Given the description of an element on the screen output the (x, y) to click on. 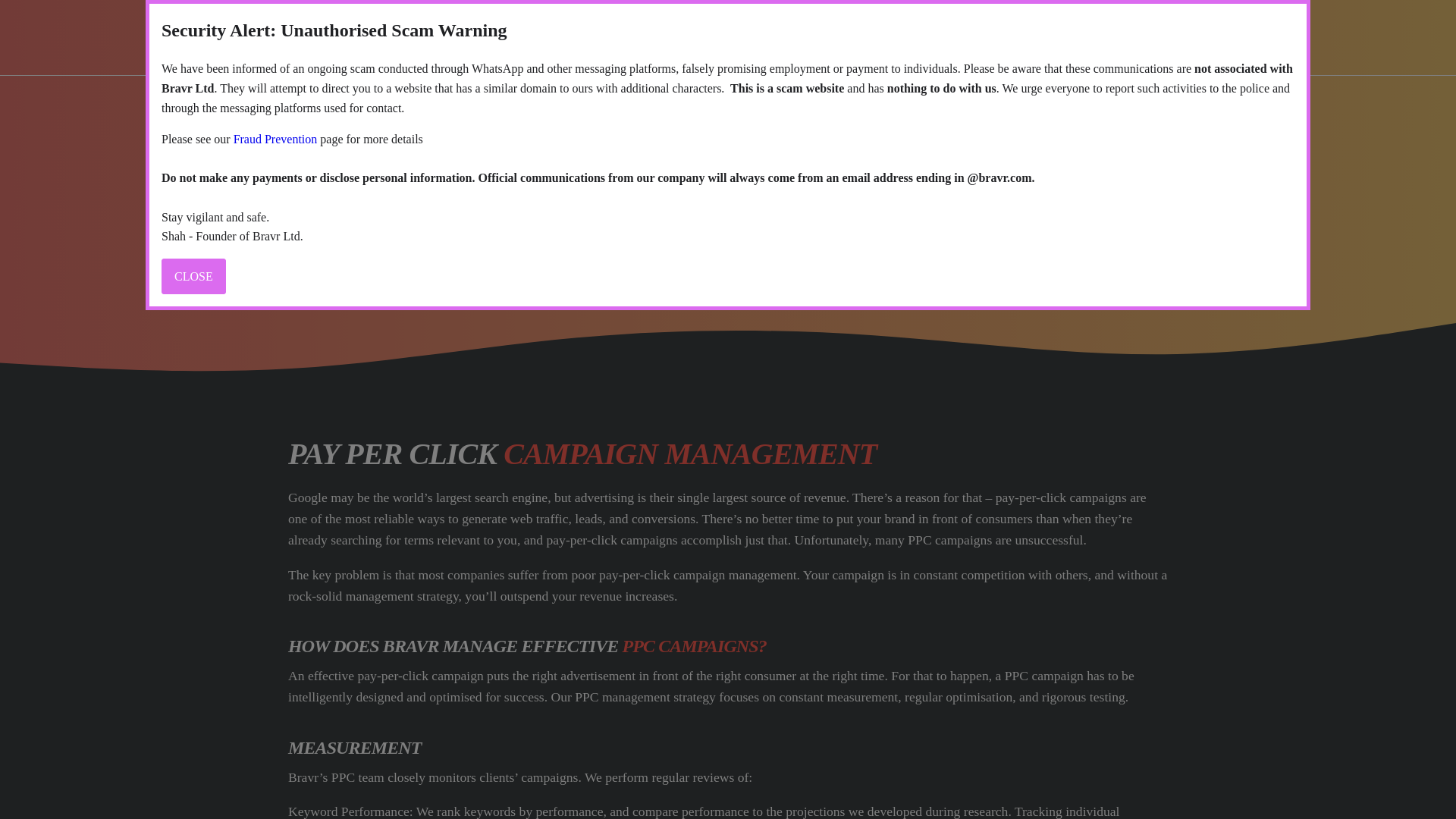
LEARN ABOUT SEO (930, 36)
ABOUT US (542, 36)
WEBSITE (791, 36)
SEO (632, 36)
PAID (702, 36)
CONTACT (1116, 37)
